Given the description of an element on the screen output the (x, y) to click on. 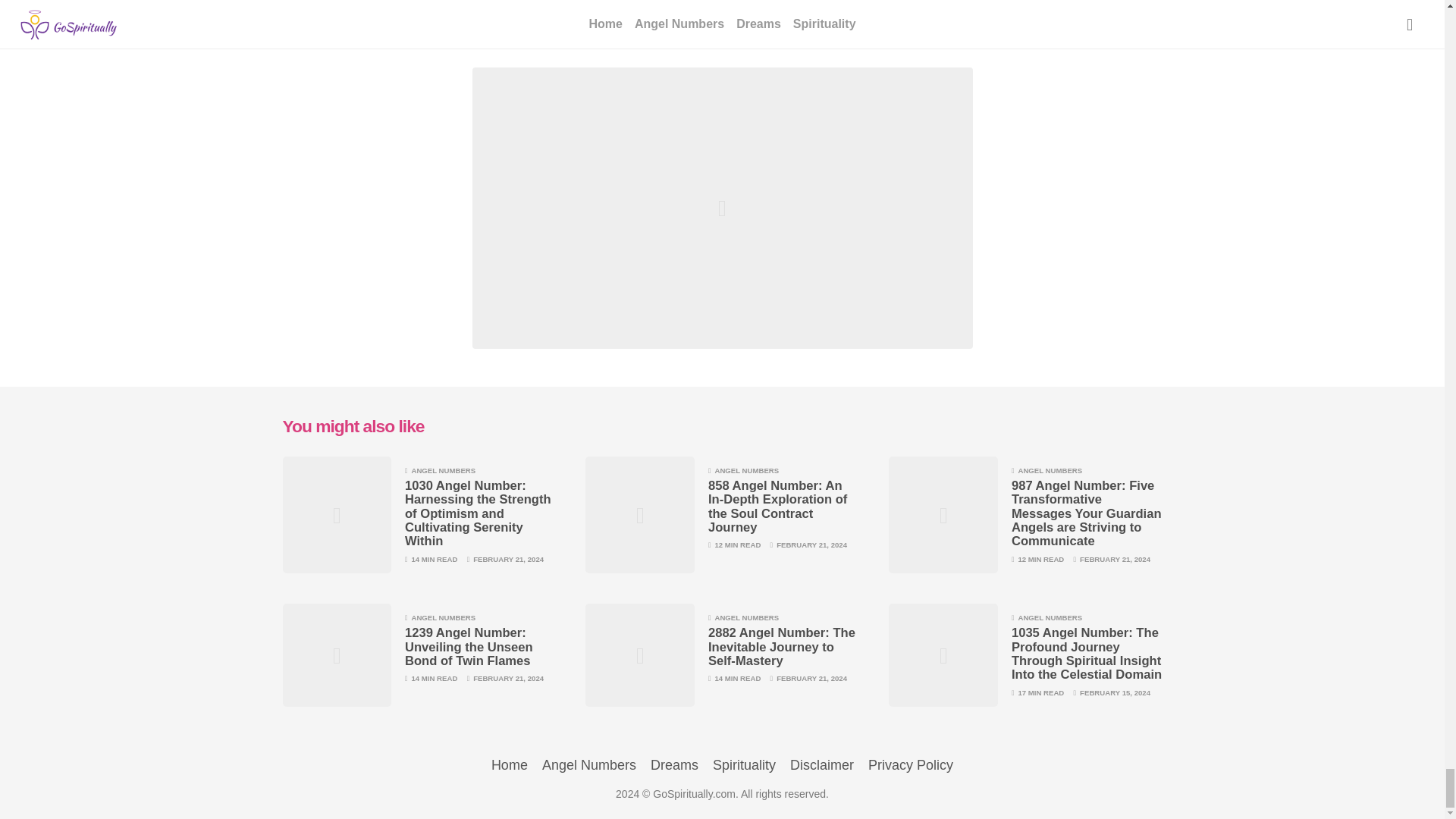
ANGEL NUMBERS (1049, 617)
ANGEL NUMBERS (746, 617)
ANGEL NUMBERS (1049, 470)
ANGEL NUMBERS (443, 470)
1239 Angel Number: Unveiling the Unseen Bond of Twin Flames (468, 646)
ANGEL NUMBERS (746, 470)
ANGEL NUMBERS (443, 617)
2882 Angel Number: The Inevitable Journey to Self-Mastery (781, 646)
